Given the description of an element on the screen output the (x, y) to click on. 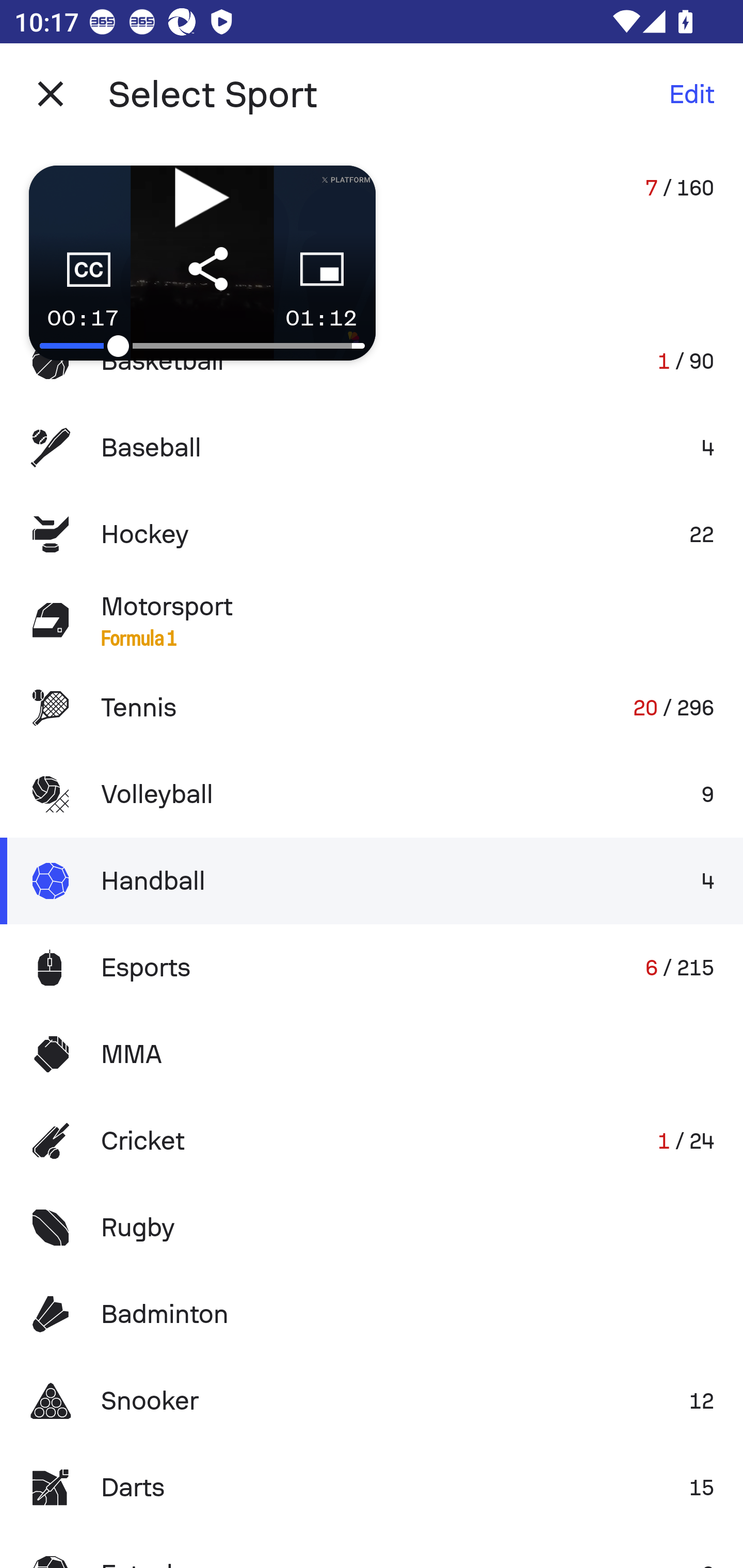
Edit (691, 93)
Baseball 4 (371, 447)
Hockey 22 (371, 533)
Motorsport Formula 1 (371, 620)
Tennis 20 / 296 (371, 707)
Volleyball 9 (371, 794)
Handball 4 (371, 880)
Esports 6 / 215 (371, 967)
MMA (371, 1054)
Cricket 1 / 24 (371, 1140)
Rugby (371, 1227)
Badminton (371, 1314)
Snooker 12 (371, 1400)
Darts 15 (371, 1487)
